Given the description of an element on the screen output the (x, y) to click on. 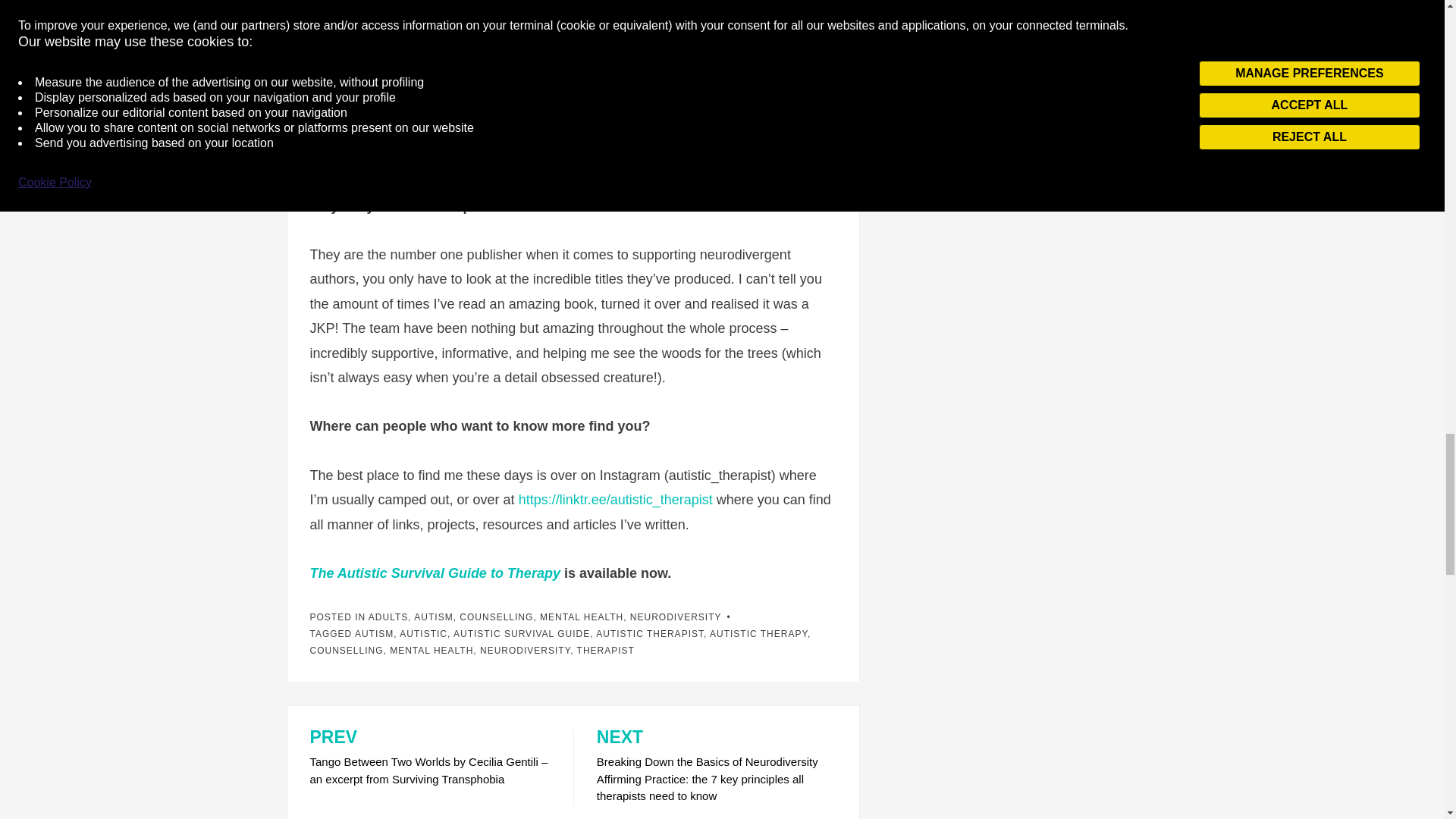
The Autistic Survival Guide to Therapy (433, 572)
